Given the description of an element on the screen output the (x, y) to click on. 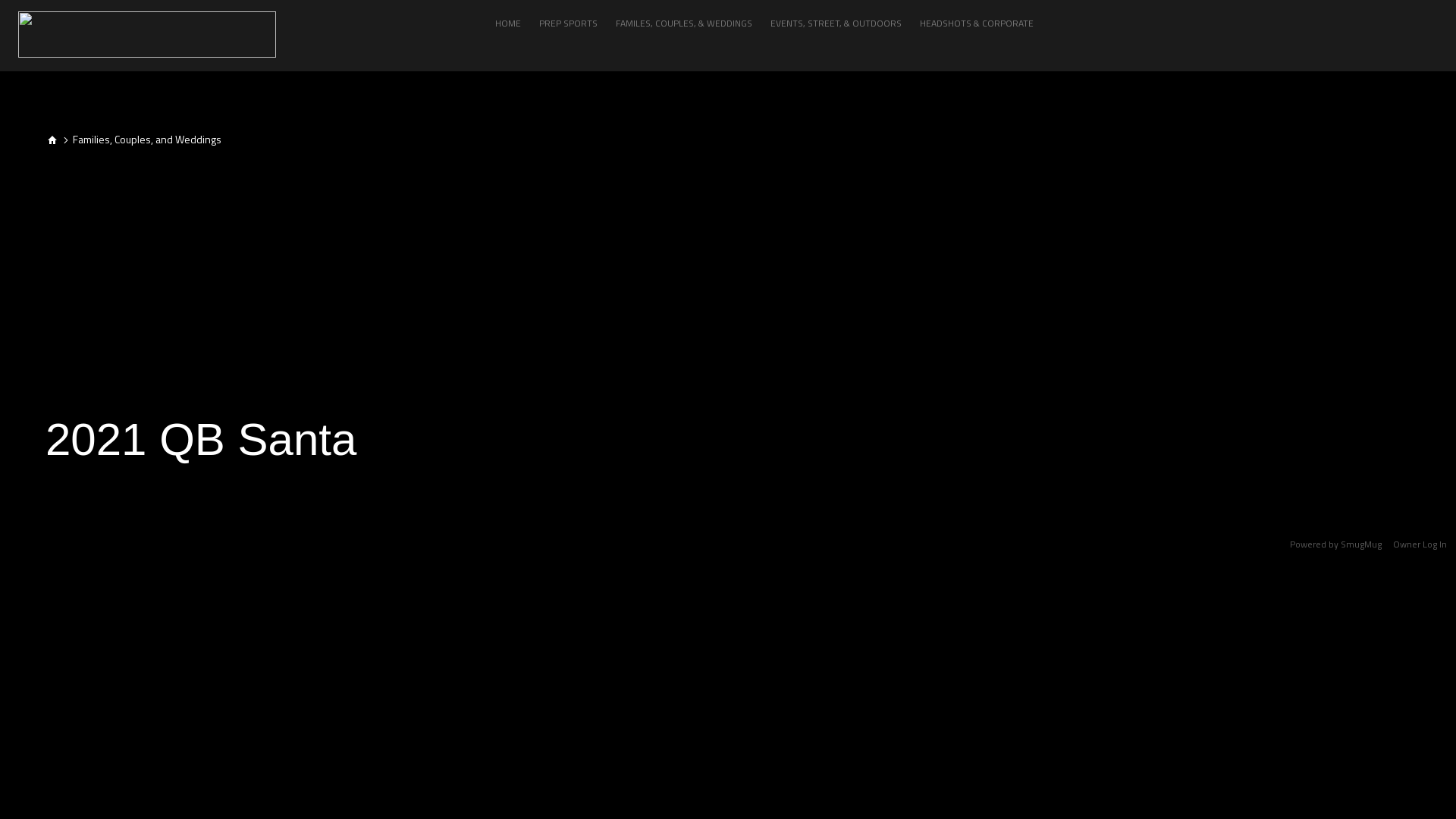
Owner Log In Element type: text (1419, 543)
HOME Element type: text (507, 22)
PREP SPORTS Element type: text (568, 22)
EVENTS, STREET, & OUTDOORS Element type: text (835, 22)
Families, Couples, and Weddings Element type: text (146, 139)
HEADSHOTS & CORPORATE Element type: text (976, 22)
Powered by SmugMug Element type: text (1336, 543)
FAMILES, COUPLES, & WEDDINGS Element type: text (683, 22)
